Given the description of an element on the screen output the (x, y) to click on. 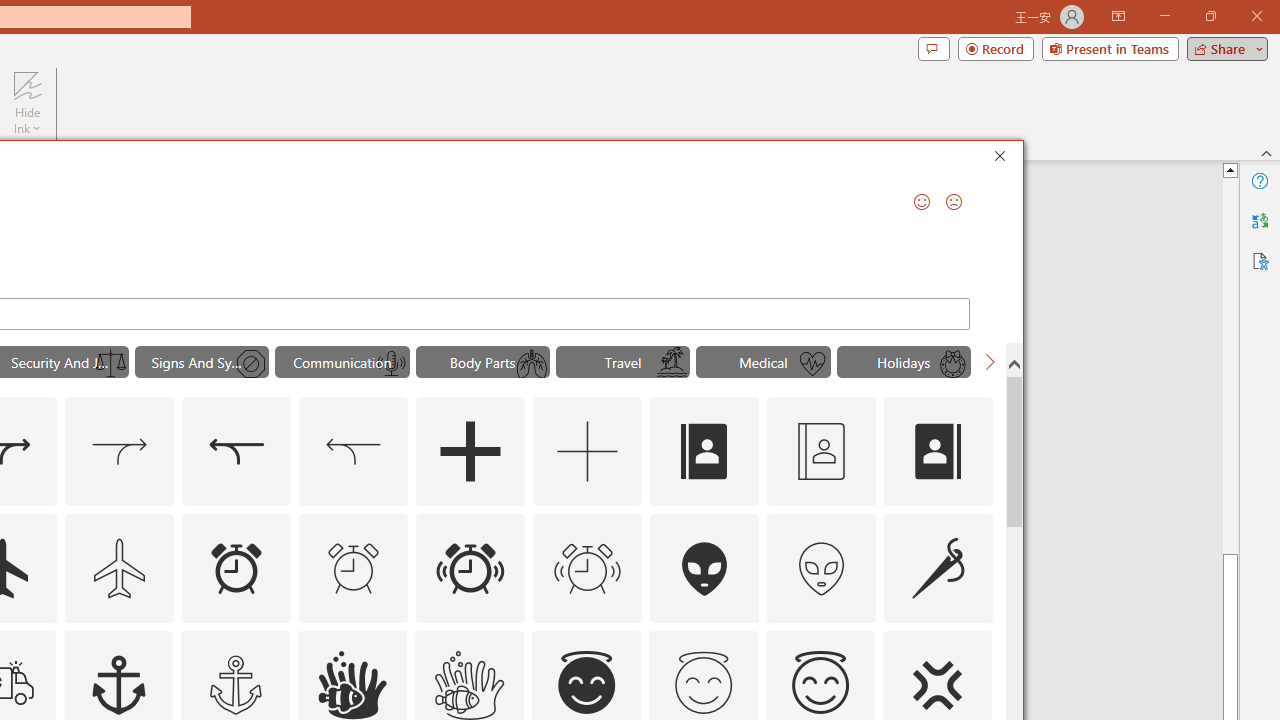
AutomationID: Icons_AlarmClock (236, 568)
Thumbnail (977, 645)
AutomationID: Icons_Add_M (587, 452)
outline (820, 685)
